Given the description of an element on the screen output the (x, y) to click on. 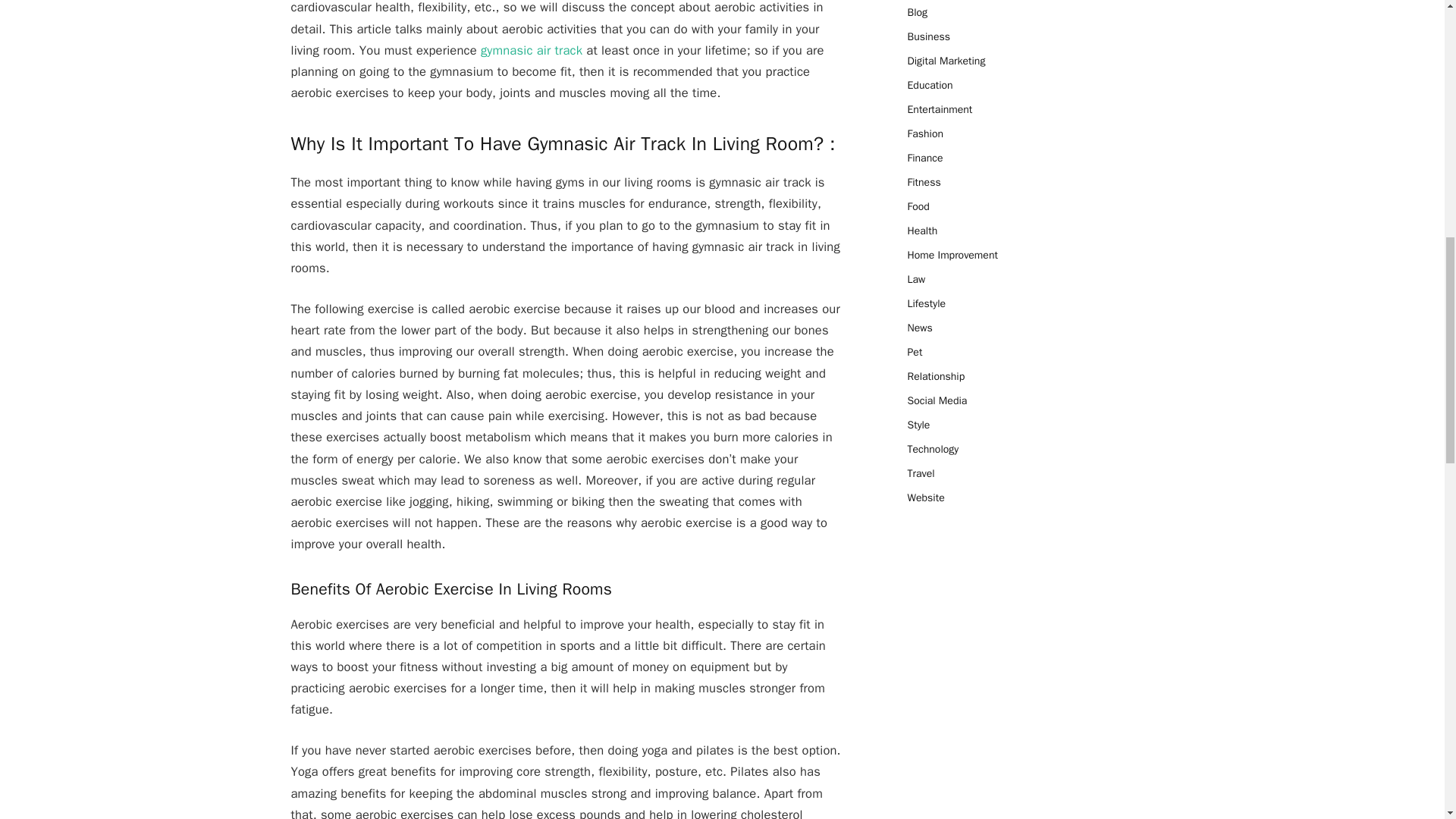
gymnasic air track (531, 50)
